Given the description of an element on the screen output the (x, y) to click on. 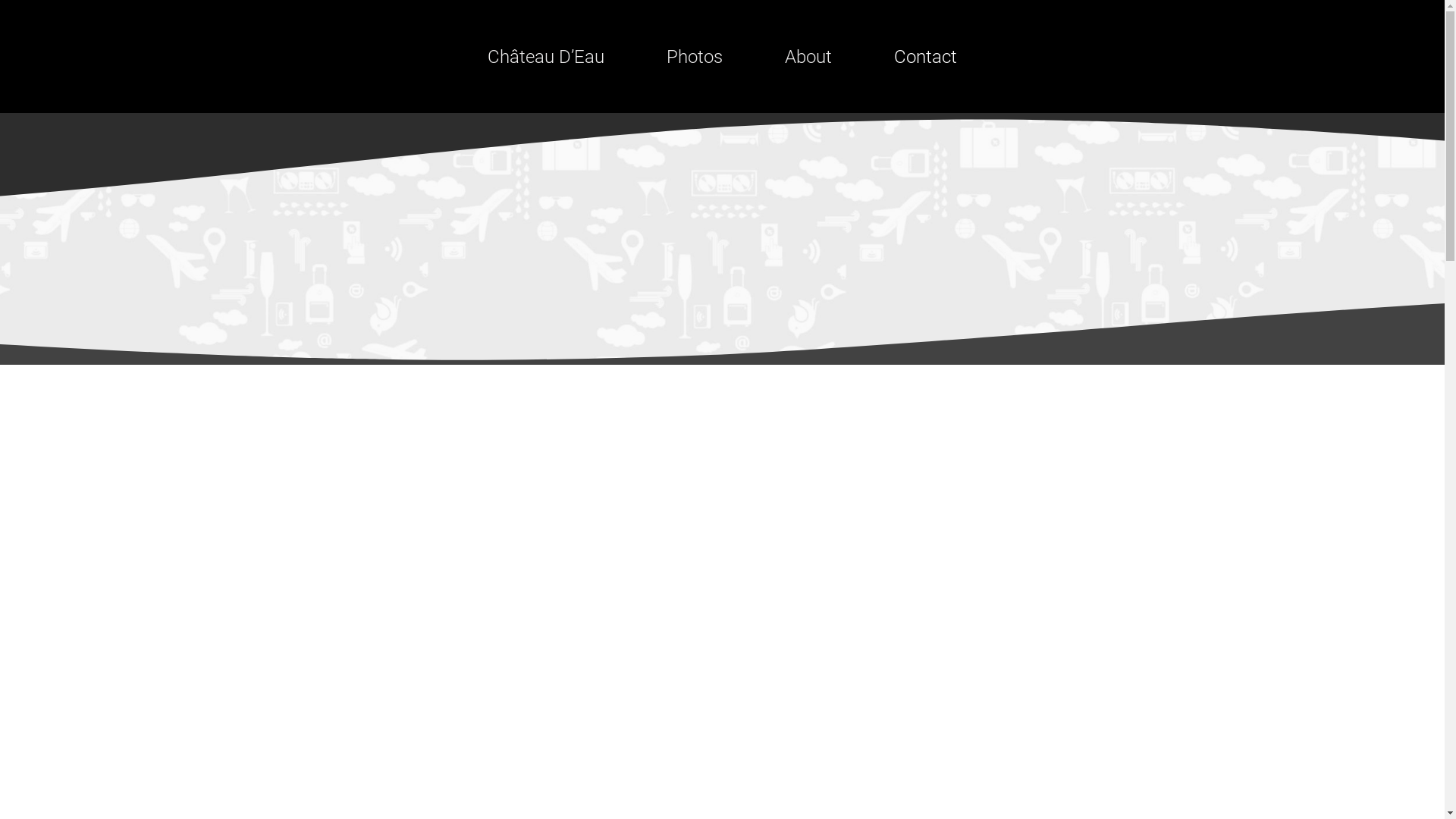
About Element type: text (808, 56)
Contact Element type: text (925, 56)
Photos Element type: text (694, 56)
